Given the description of an element on the screen output the (x, y) to click on. 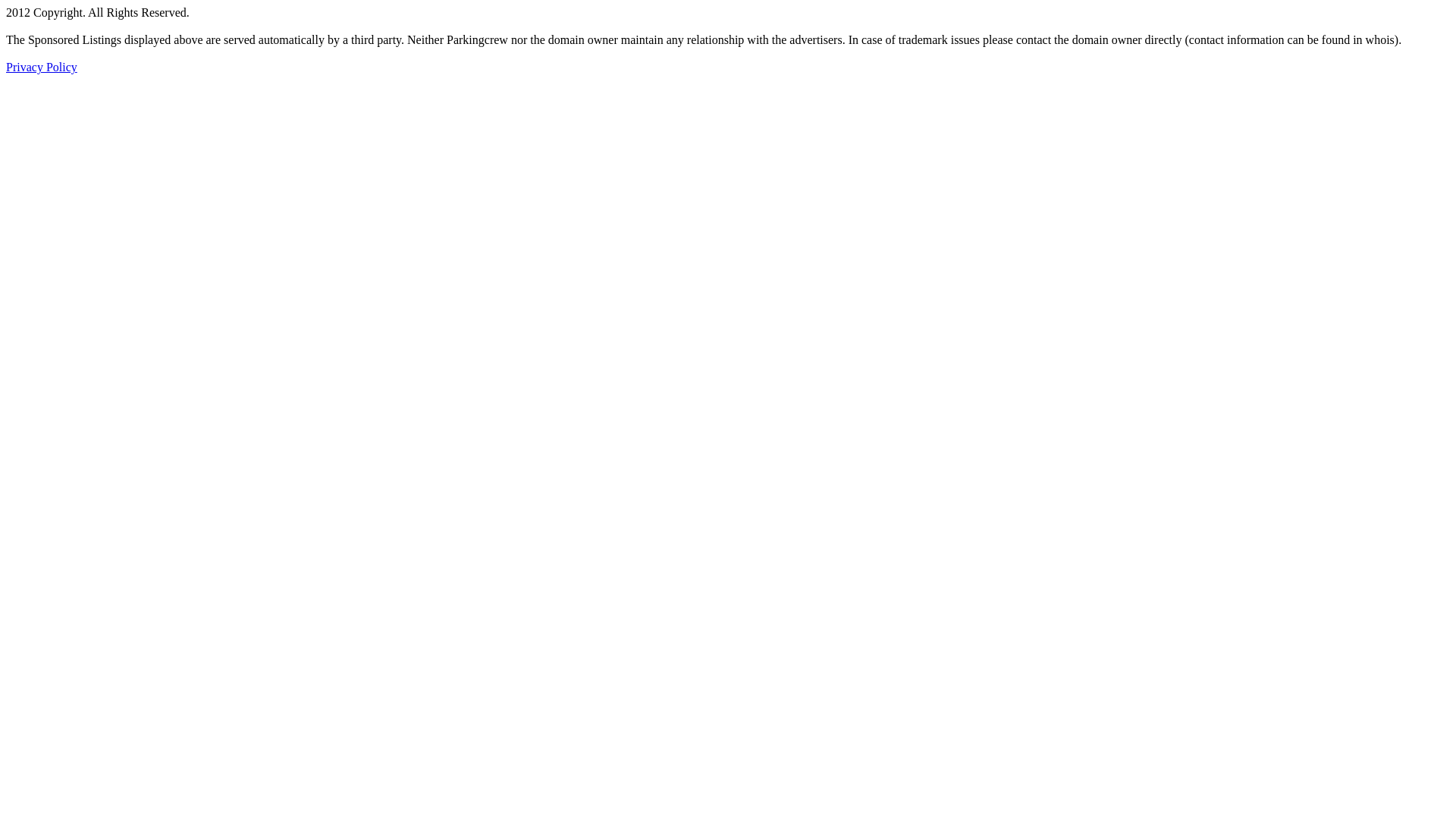
Privacy Policy Element type: text (41, 66)
